Given the description of an element on the screen output the (x, y) to click on. 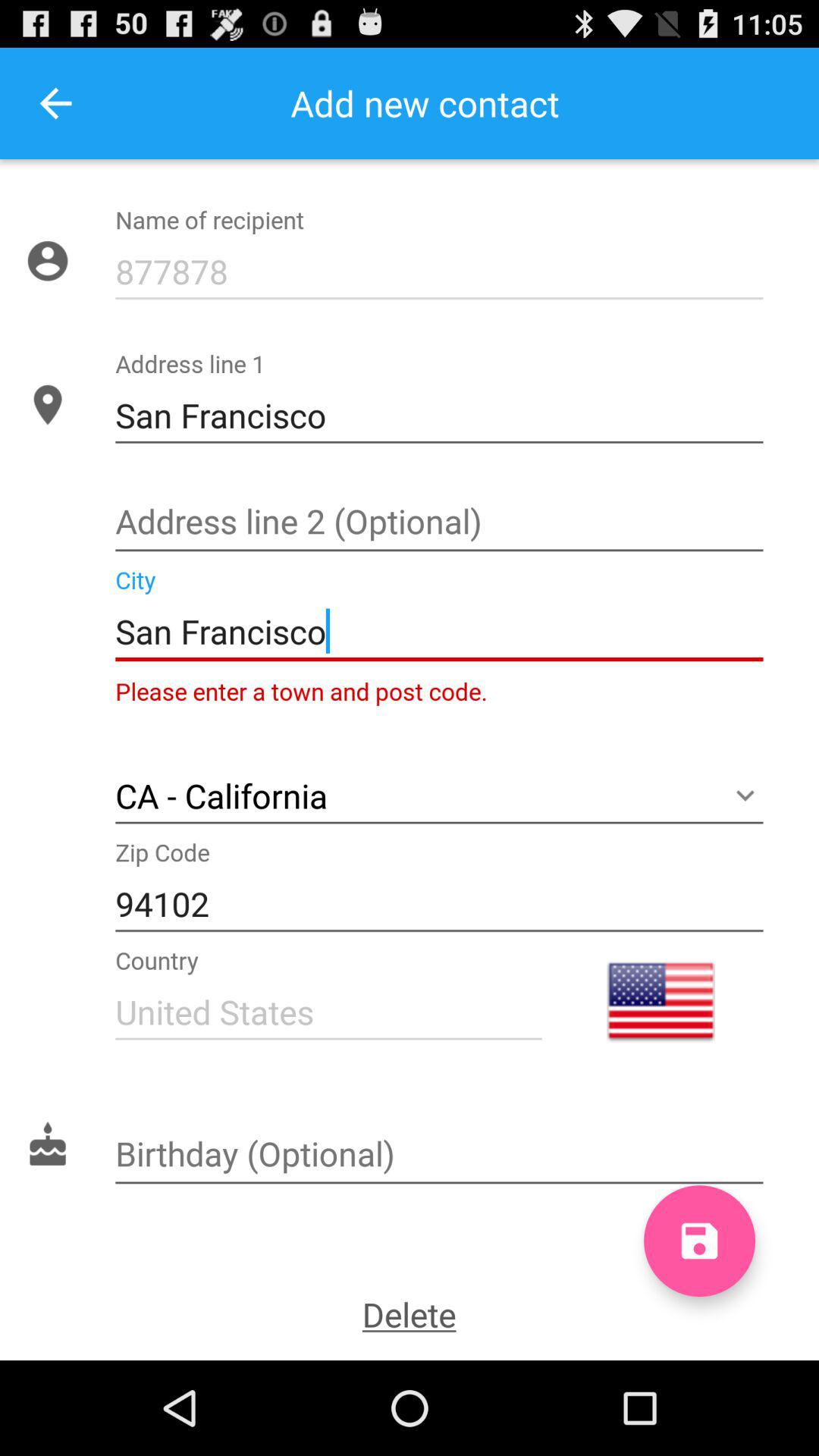
save to hard drive (699, 1240)
